Given the description of an element on the screen output the (x, y) to click on. 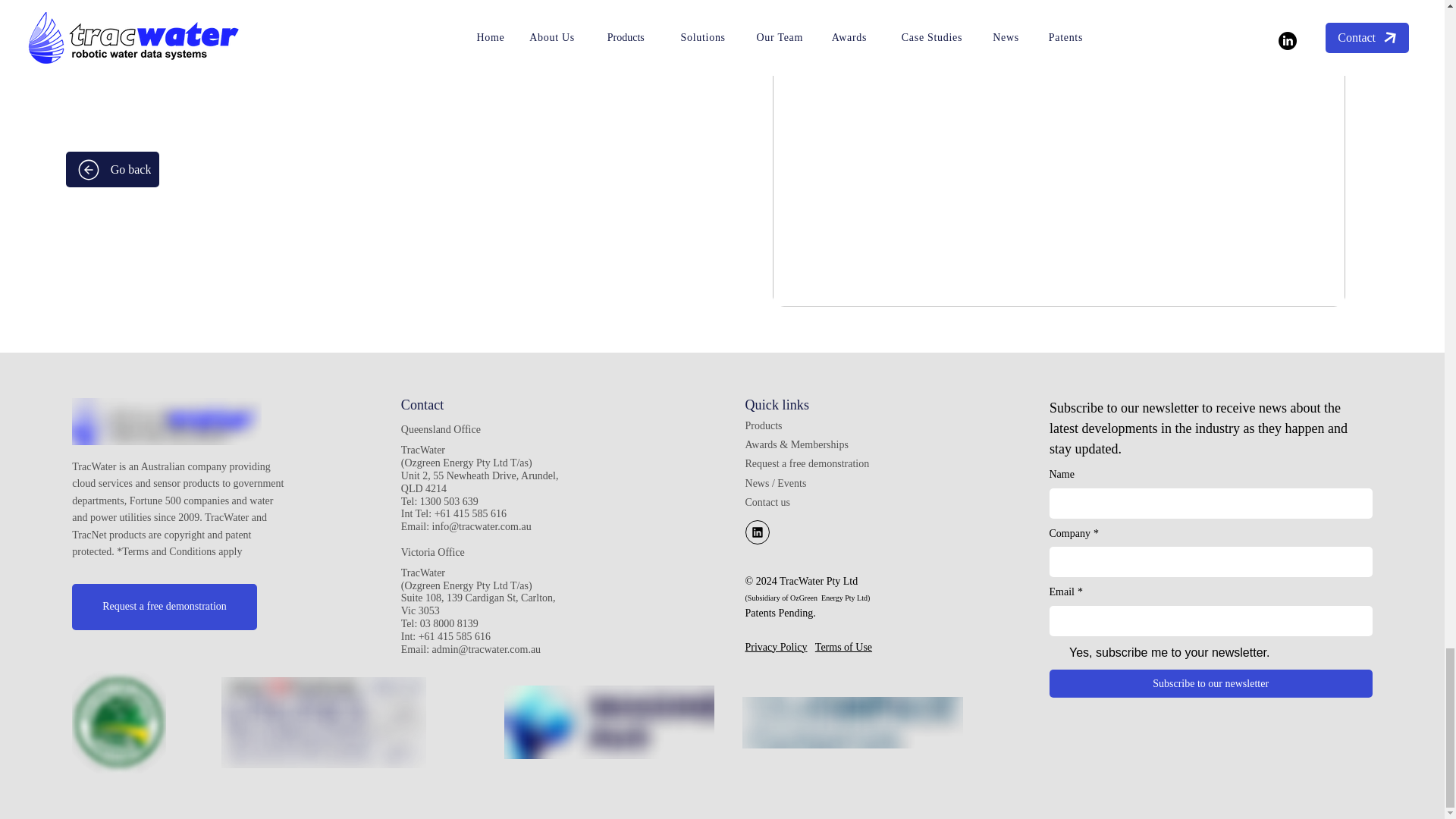
Subscribe to our newsletter (1211, 683)
Privacy Policy (776, 646)
